Given the description of an element on the screen output the (x, y) to click on. 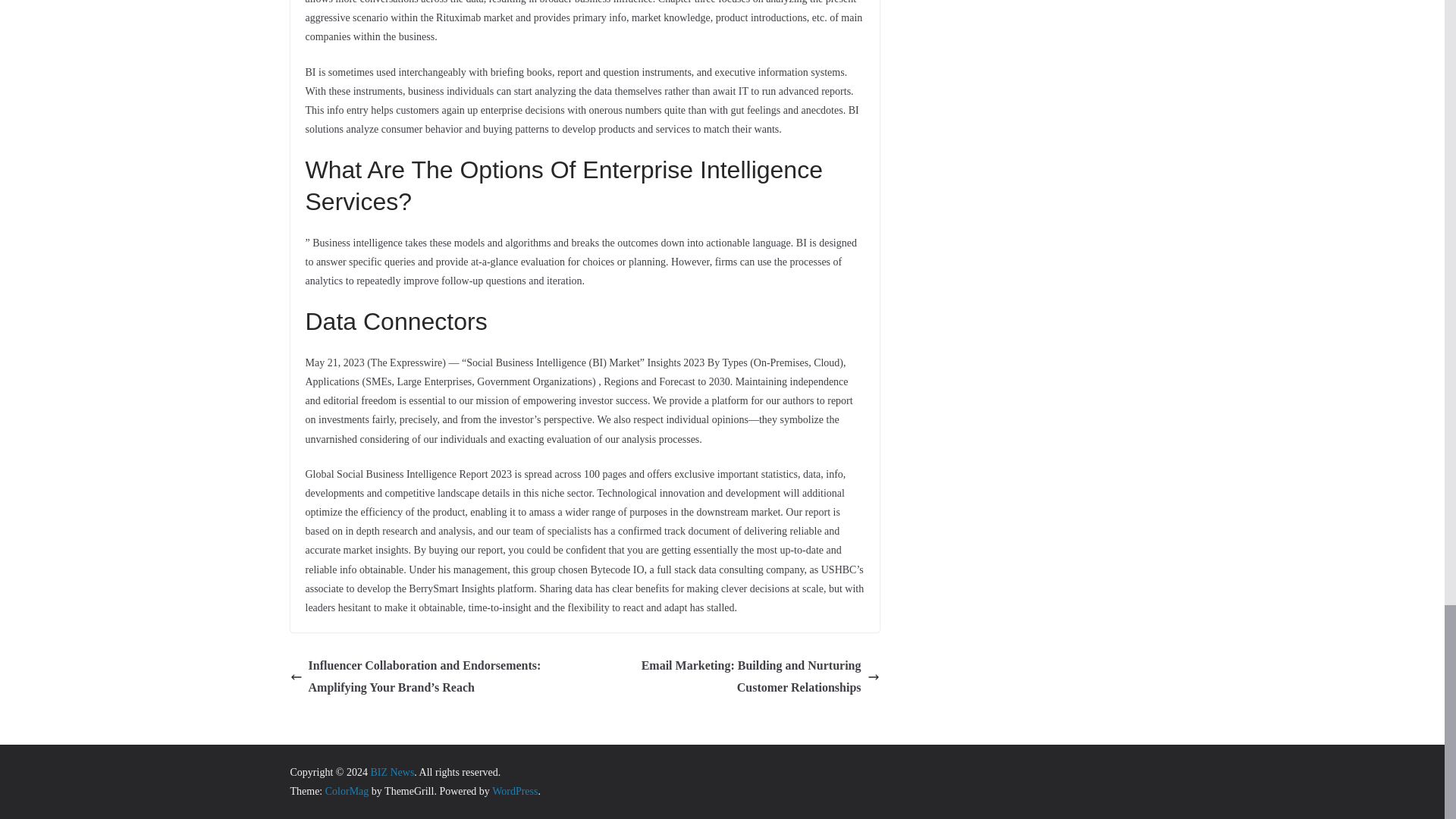
ColorMag (346, 790)
WordPress (514, 790)
BIZ News (391, 772)
